Given the description of an element on the screen output the (x, y) to click on. 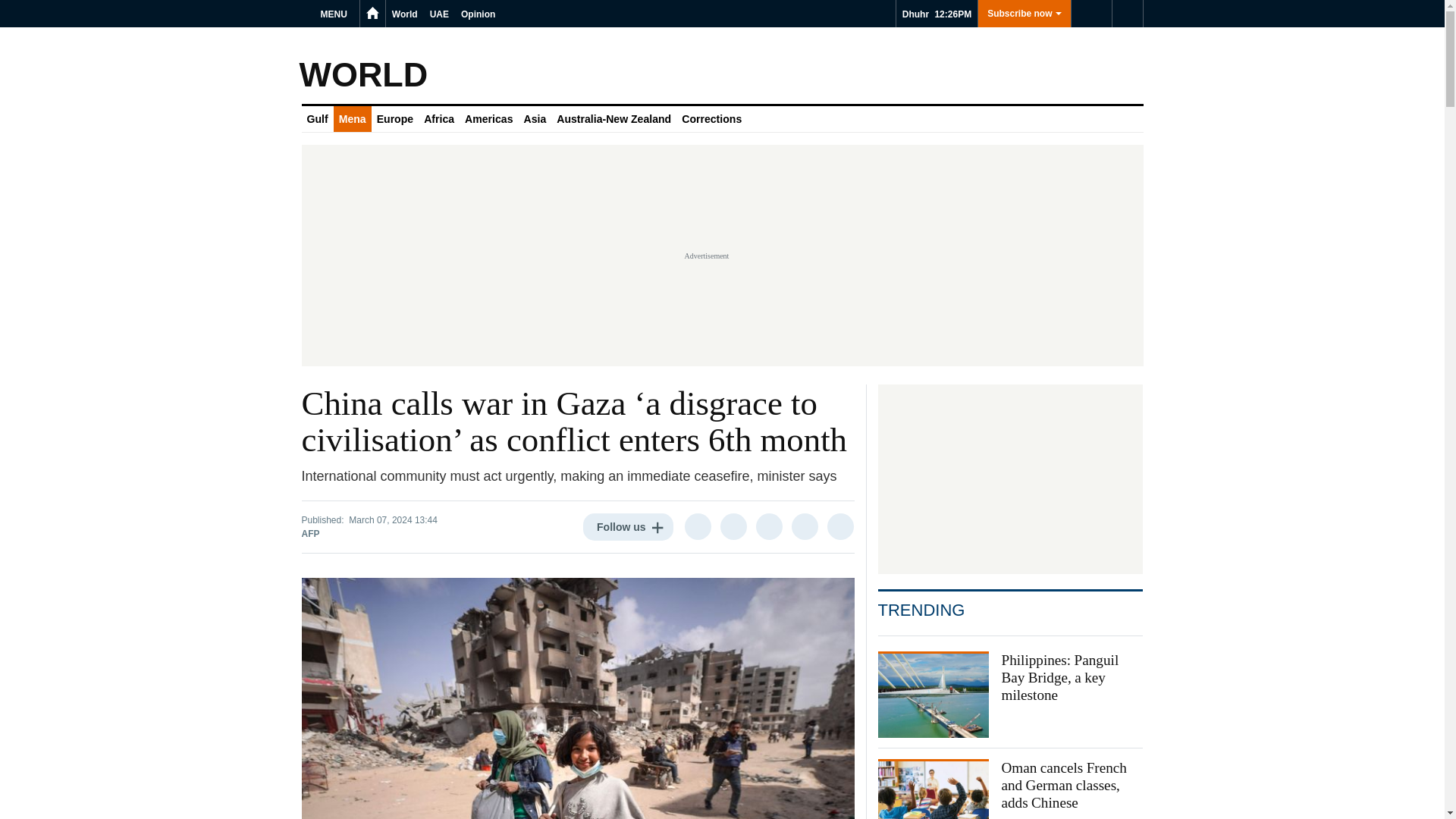
Subscribe now (1024, 13)
MENU (336, 13)
World (404, 13)
Dhuhr 12:26PM (936, 13)
Opinion (477, 13)
UAE (438, 13)
